Given the description of an element on the screen output the (x, y) to click on. 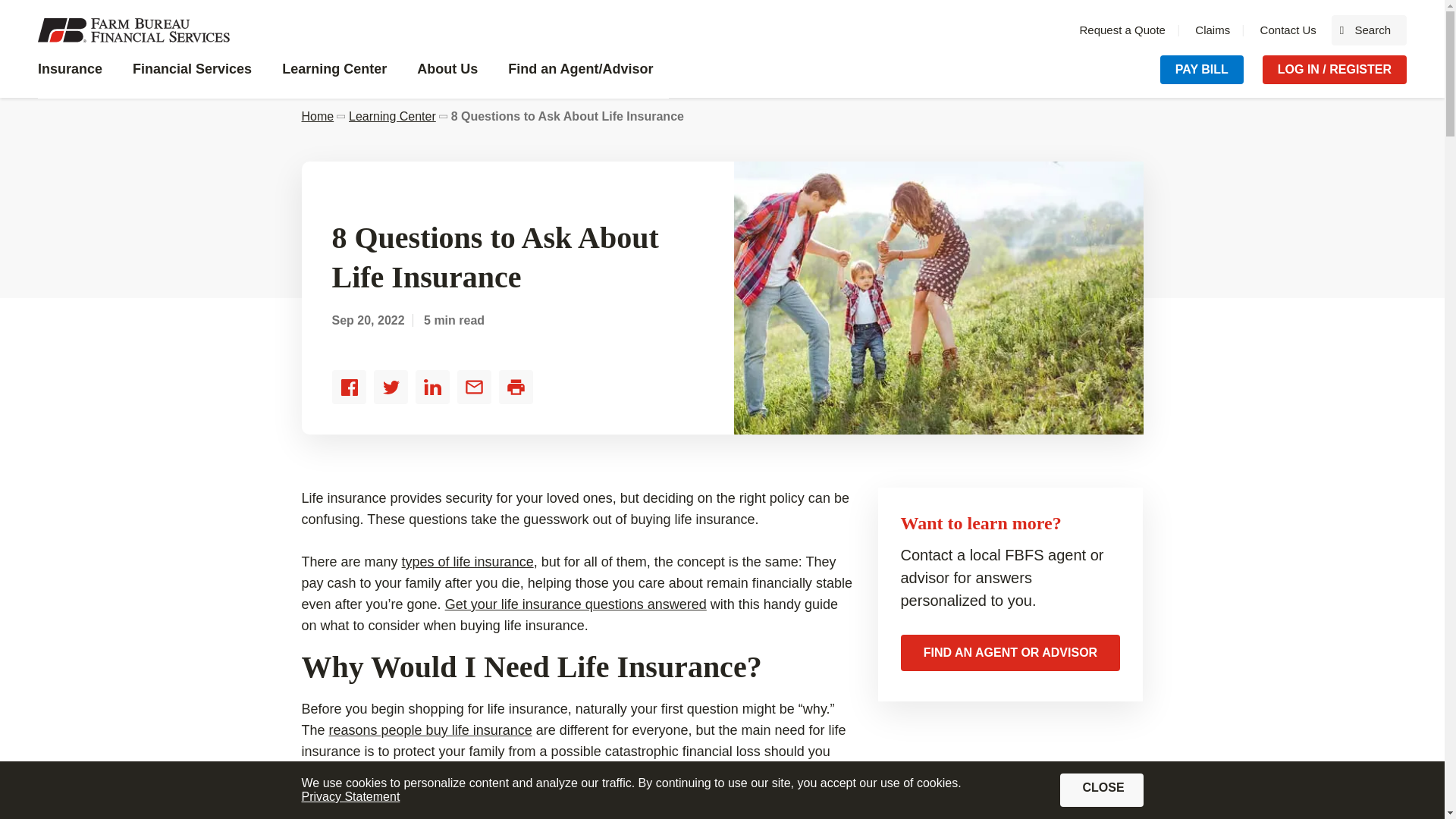
CLOSE (1369, 30)
Contact Us (1100, 789)
Claims (1288, 29)
Insurance (1212, 29)
SKIP TO MAIN CONTENT (77, 78)
Request a Quote (22, 11)
Privacy Statement (1123, 29)
